Given the description of an element on the screen output the (x, y) to click on. 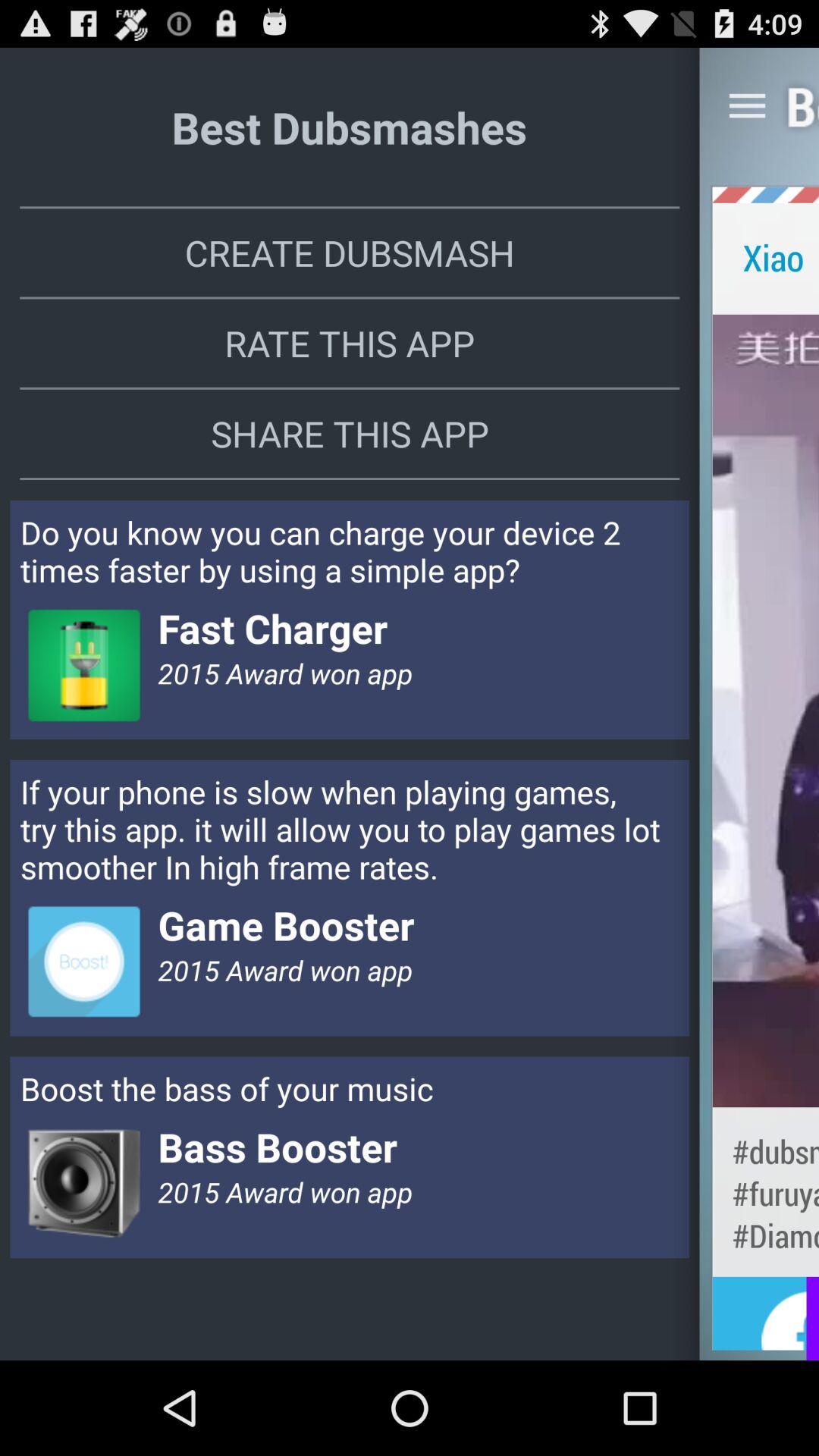
turn off app to the right of the create dubsmash app (765, 257)
